Given the description of an element on the screen output the (x, y) to click on. 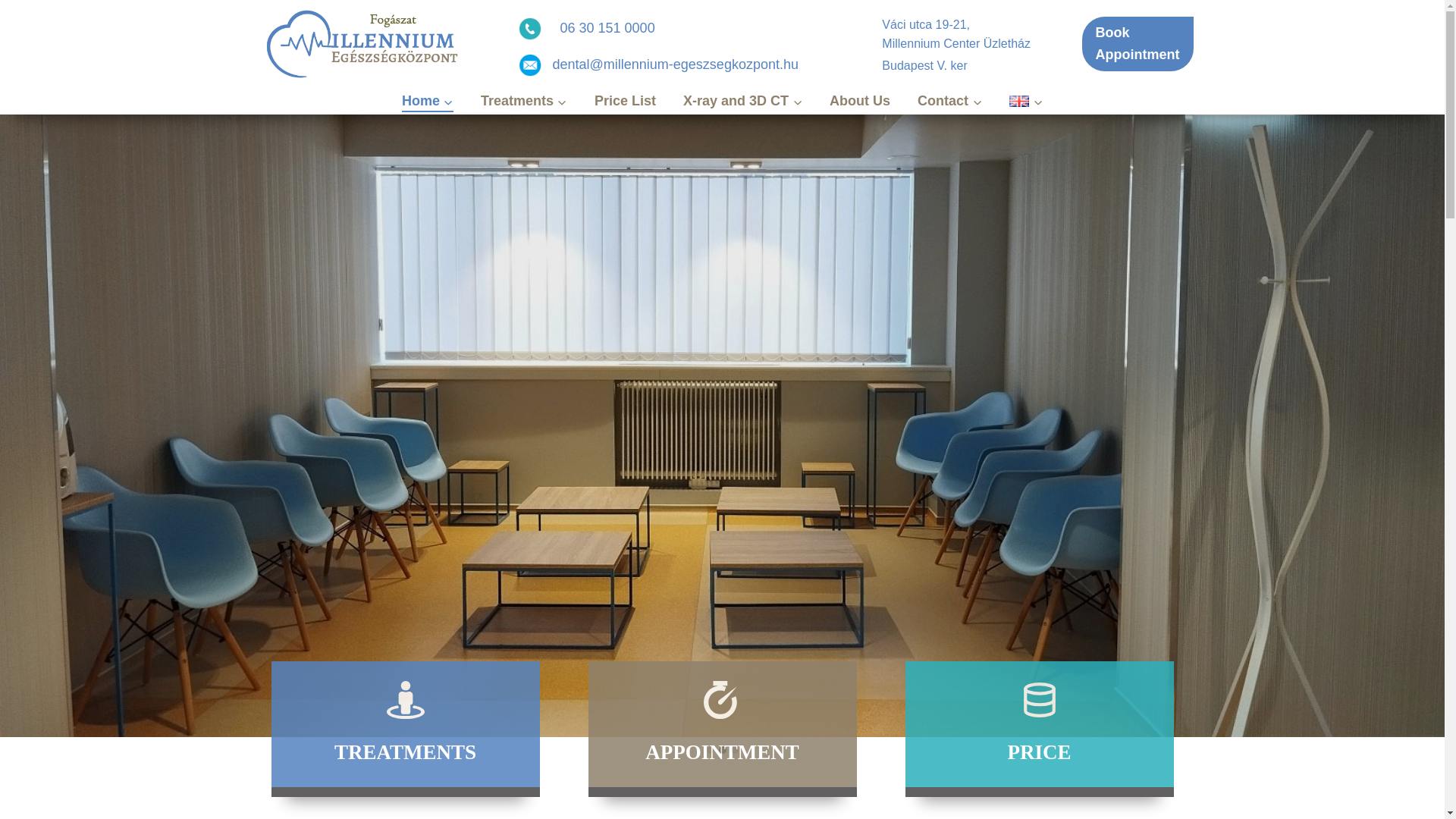
Contact (949, 101)
Home (427, 101)
X-ray and 3D CT (742, 101)
06 30 151 0000 (607, 27)
About Us (859, 101)
Book Appointment (1137, 43)
TREATMENTS (405, 728)
Price List (624, 101)
Treatments (523, 101)
